Given the description of an element on the screen output the (x, y) to click on. 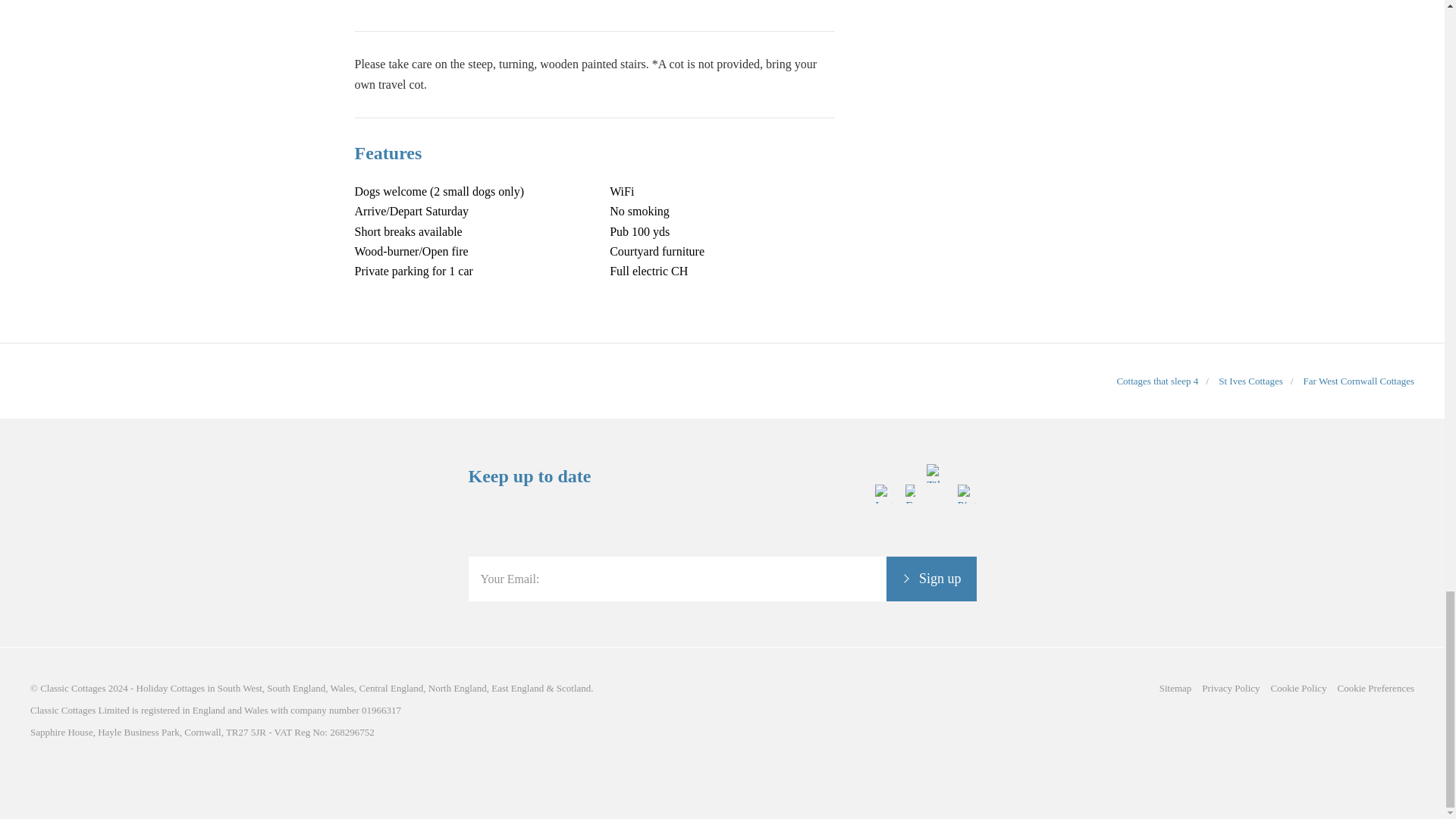
Follow Classic Cottages Tik Tok (935, 545)
Follow Classic Cottages Instagram (884, 545)
Follow Classic Cottages Pinterest (965, 545)
